Given the description of an element on the screen output the (x, y) to click on. 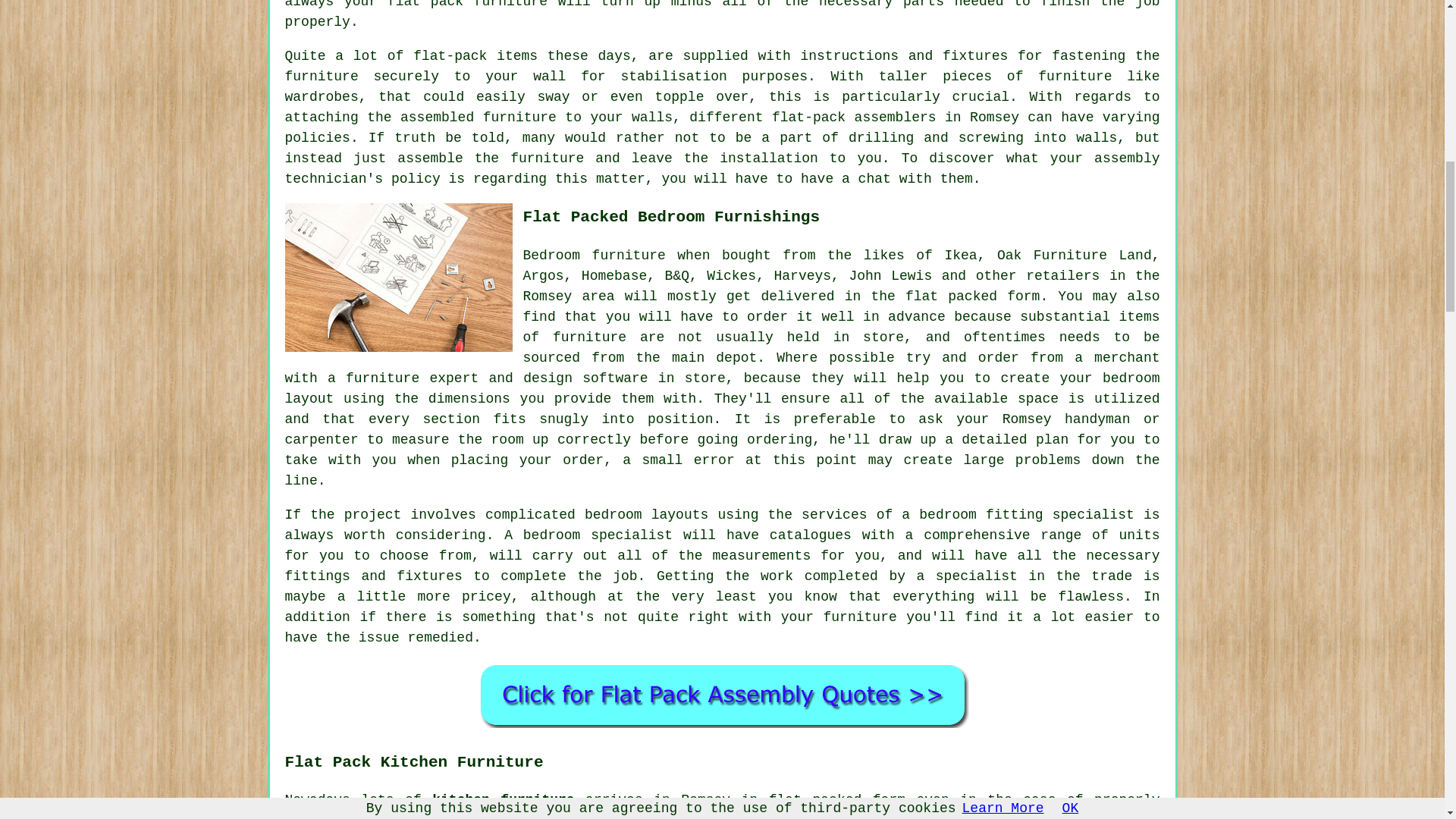
detailed (993, 439)
Harveys (802, 275)
kitchen furniture (502, 799)
Click for Romsey Flat Pack Assembly (722, 693)
Ikea (959, 254)
furniture (510, 4)
the job (1130, 4)
